Given the description of an element on the screen output the (x, y) to click on. 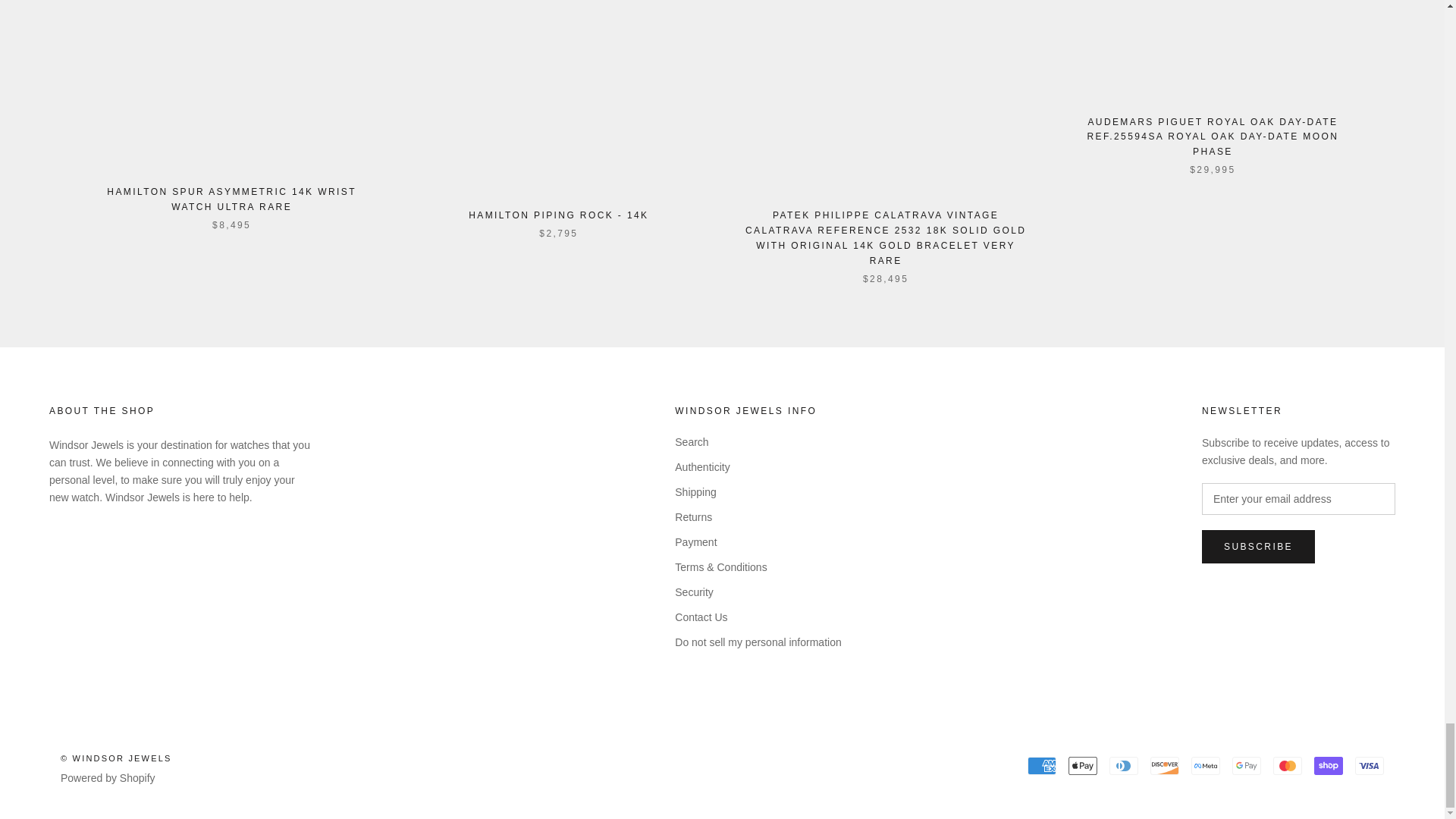
Google Pay (1245, 765)
Discover (1164, 765)
Shop Pay (1328, 765)
Diners Club (1123, 765)
Mastercard (1286, 765)
Apple Pay (1082, 765)
Meta Pay (1205, 765)
American Express (1042, 765)
Visa (1369, 765)
